Given the description of an element on the screen output the (x, y) to click on. 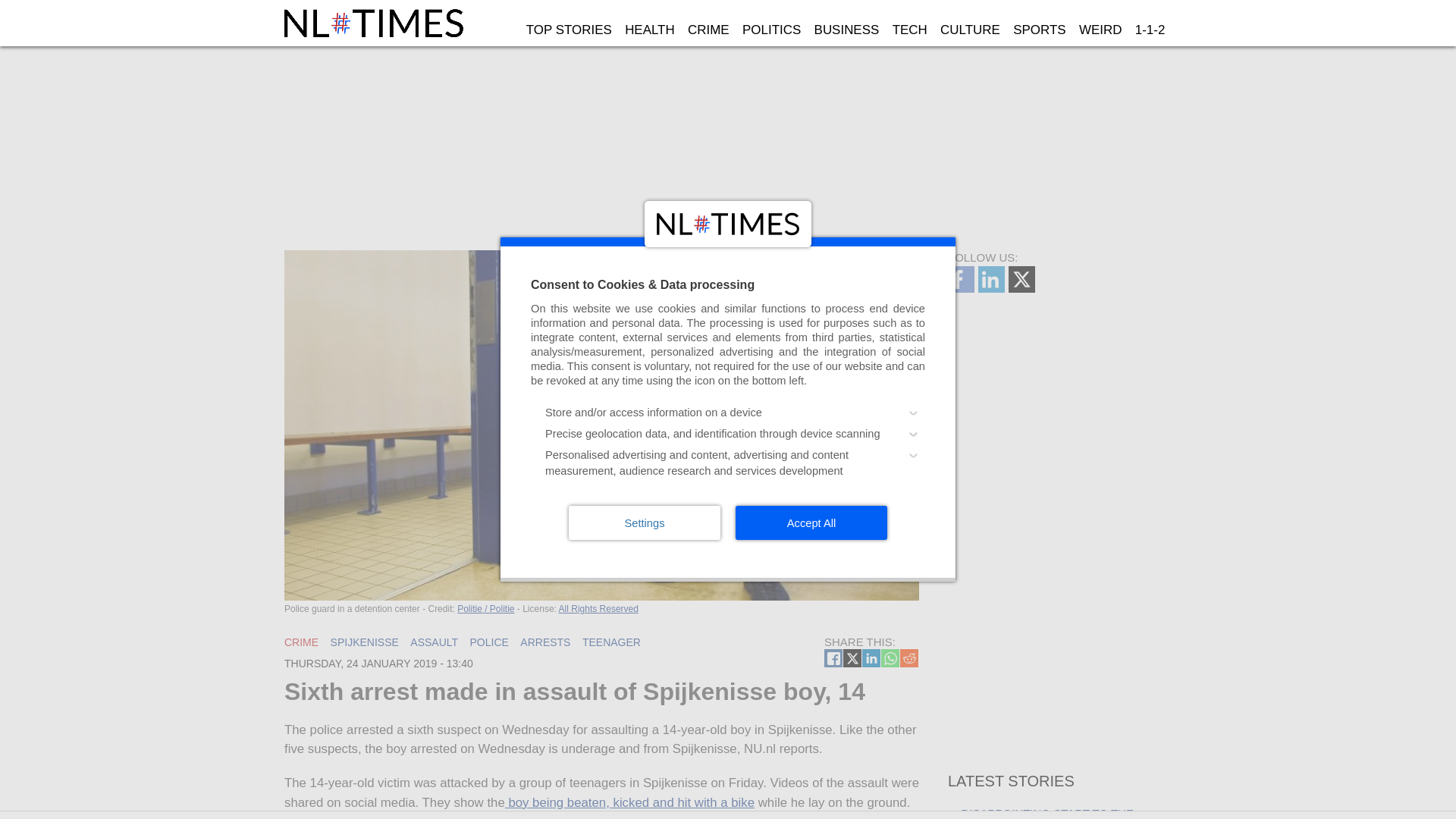
Home (375, 22)
SPIJKENISSE (364, 642)
ASSAULT (434, 642)
WEIRD (1099, 30)
FACEBOOK (833, 658)
boy being beaten, kicked and hit with a bike (629, 802)
Follow us on Facebook (962, 287)
TOP STORIES (568, 30)
CULTURE (969, 30)
HEALTH (649, 30)
